Given the description of an element on the screen output the (x, y) to click on. 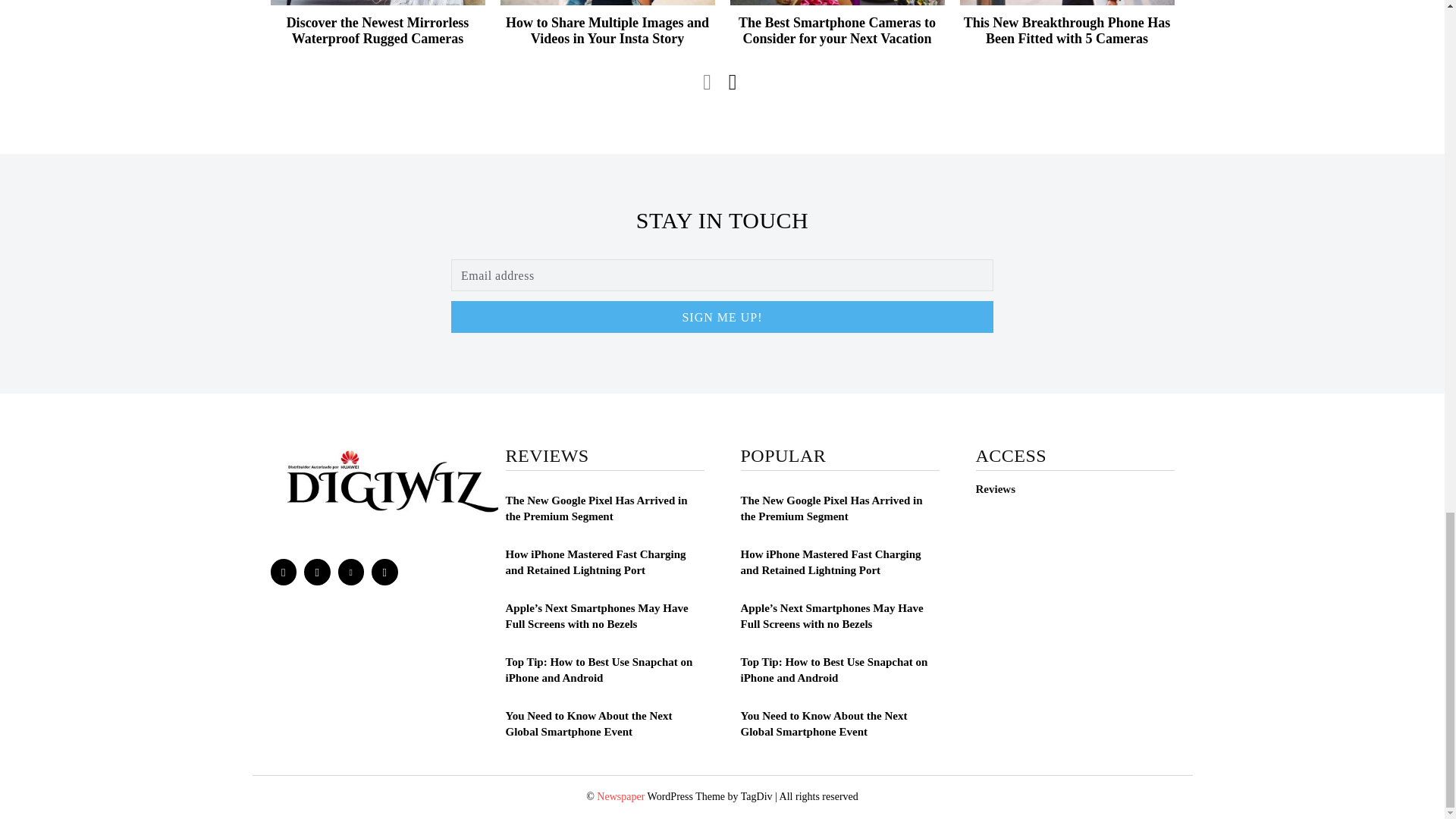
Discover the Newest Mirrorless Waterproof Rugged Cameras (376, 2)
Discover the Newest Mirrorless Waterproof Rugged Cameras (377, 30)
How to Share Multiple Images and Videos in Your Insta Story (607, 2)
How to Share Multiple Images and Videos in Your Insta Story (607, 30)
